Given the description of an element on the screen output the (x, y) to click on. 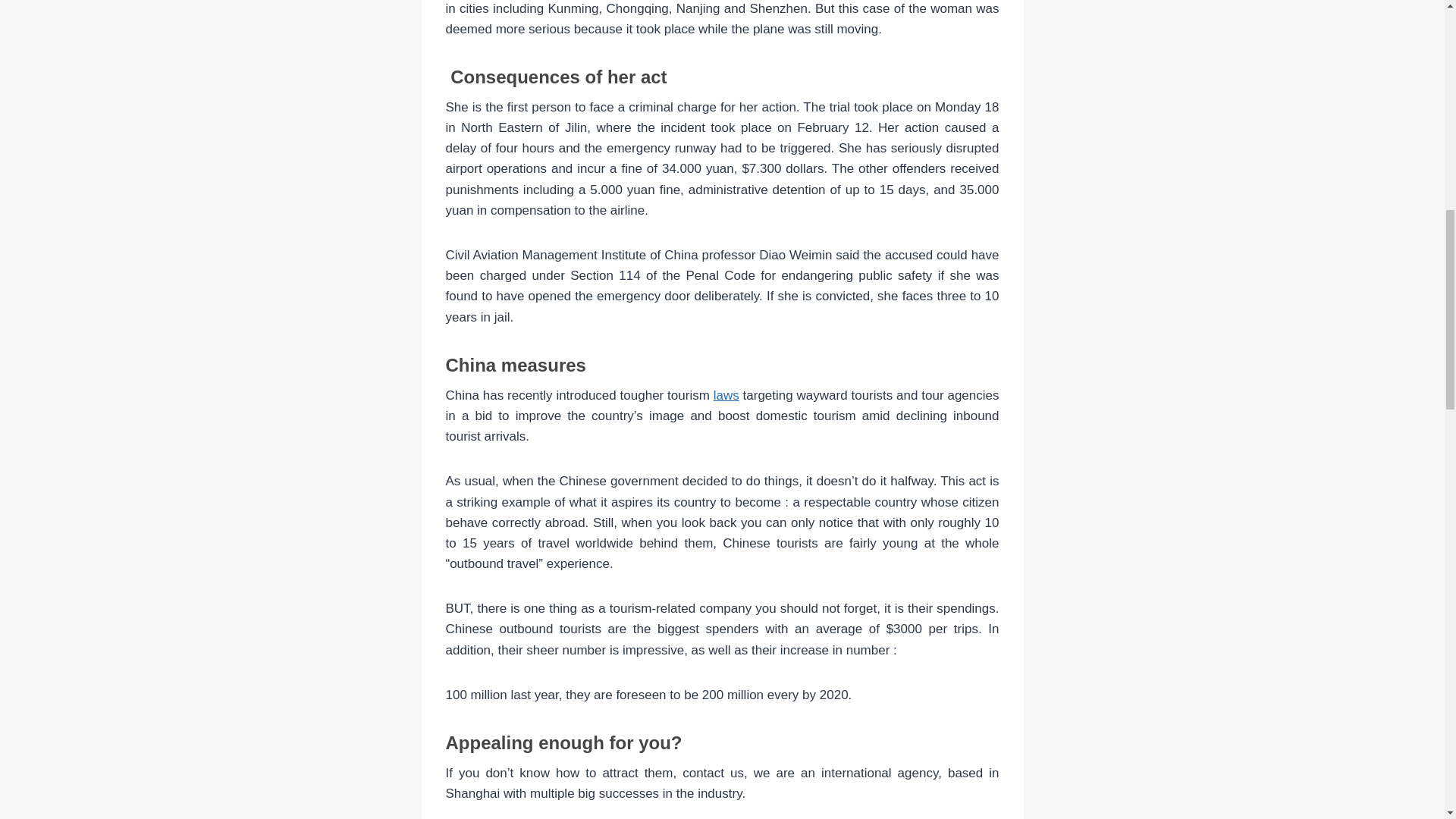
laws (726, 395)
